Given the description of an element on the screen output the (x, y) to click on. 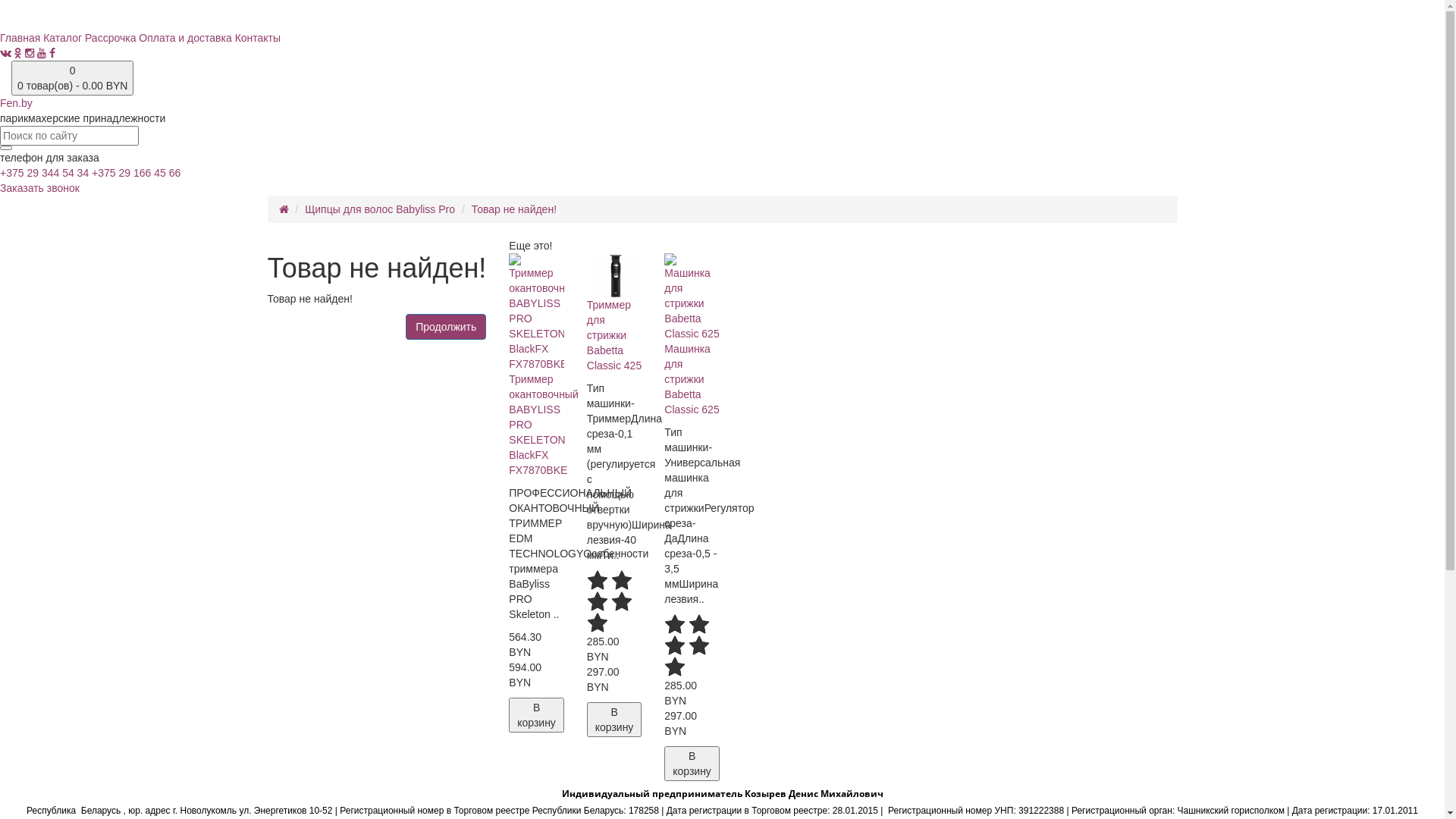
Fen.by Element type: text (722, 120)
+375 29 166 45 66 Element type: text (135, 172)
+375 29 344 54 34 Element type: text (44, 172)
